Given the description of an element on the screen output the (x, y) to click on. 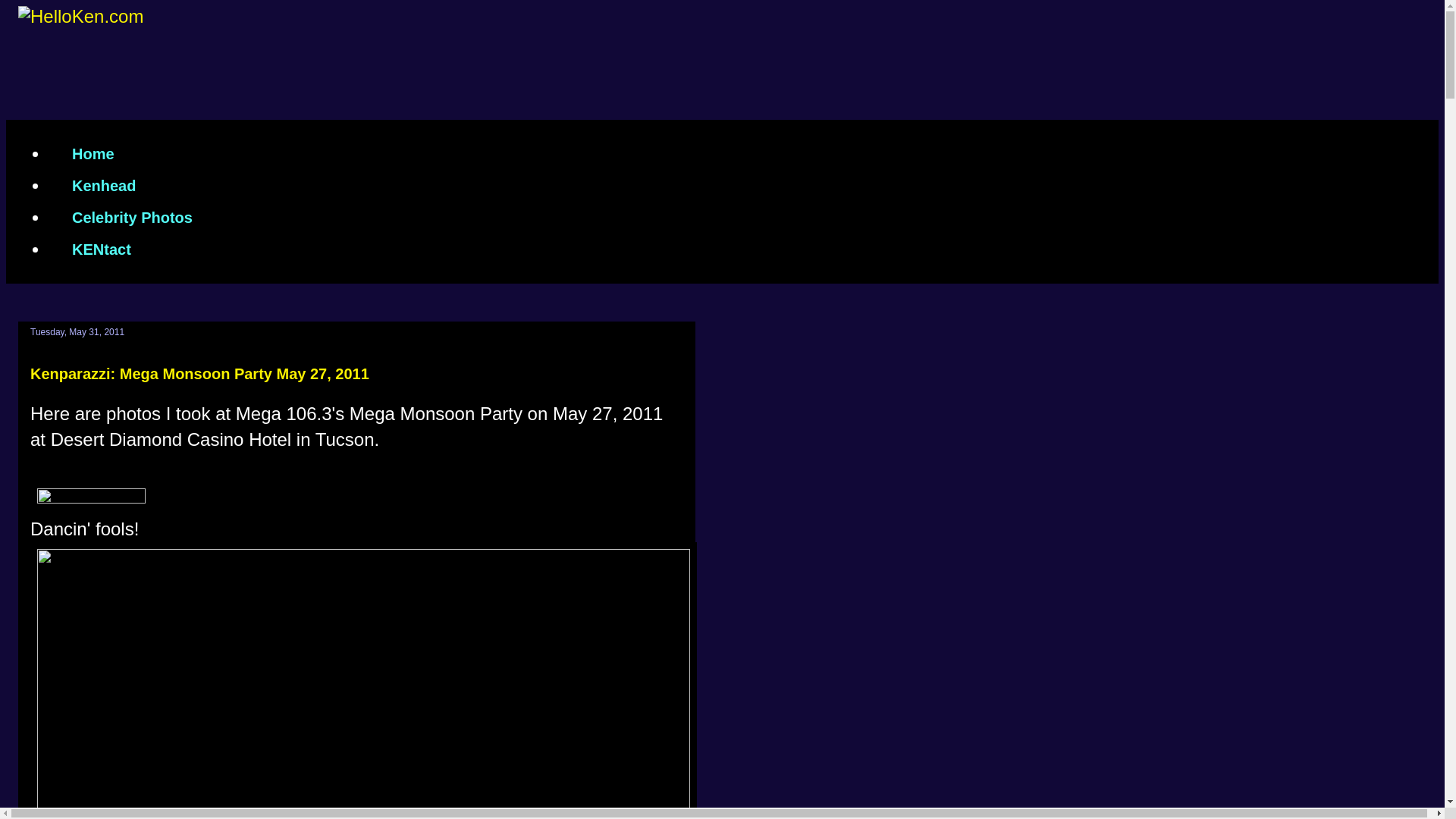
Kenhead (103, 185)
Home (92, 153)
KENtact (101, 249)
Celebrity Photos (131, 217)
